Given the description of an element on the screen output the (x, y) to click on. 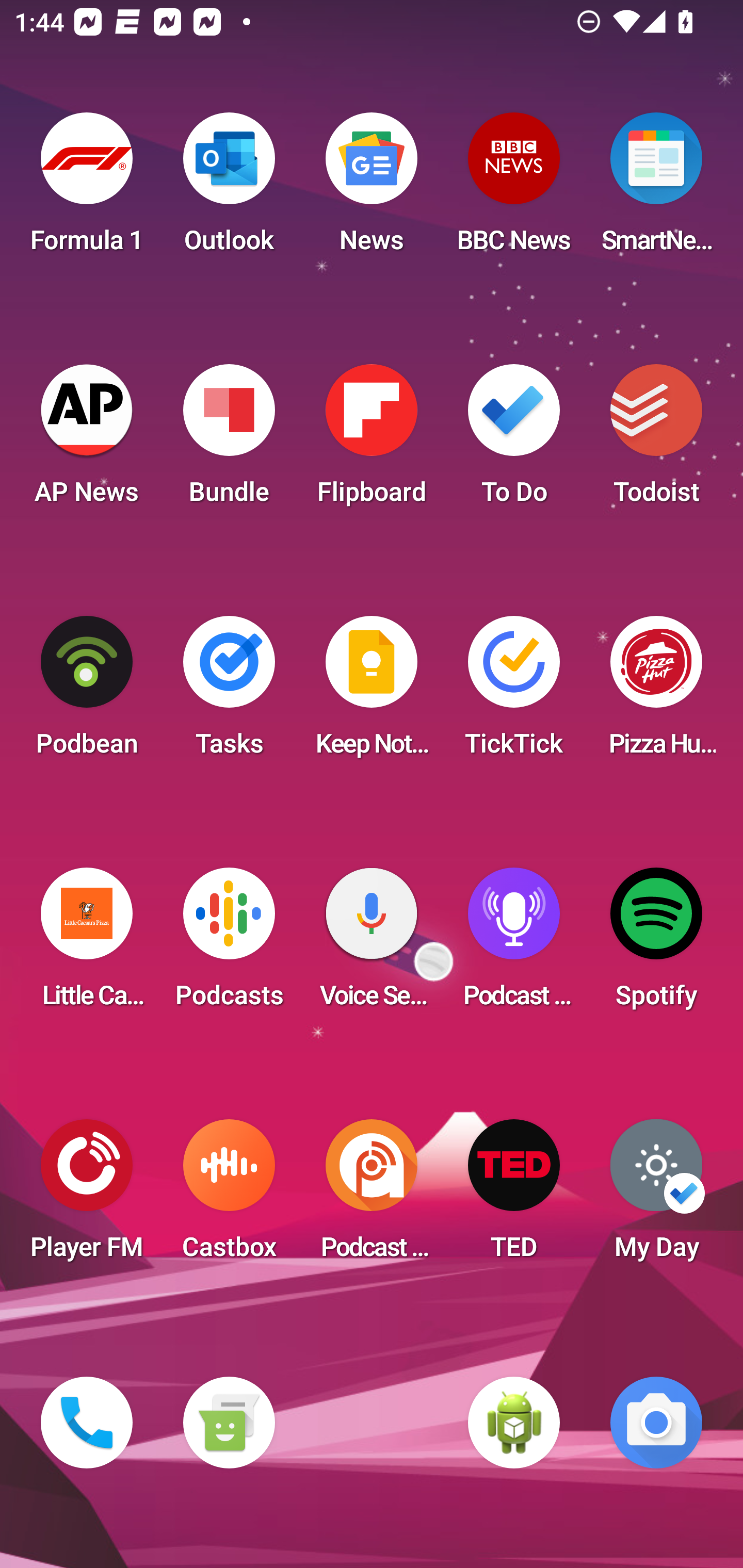
Formula 1 (86, 188)
Outlook (228, 188)
News (371, 188)
BBC News (513, 188)
SmartNews (656, 188)
AP News (86, 440)
Bundle (228, 440)
Flipboard (371, 440)
To Do (513, 440)
Todoist (656, 440)
Podbean (86, 692)
Tasks (228, 692)
Keep Notes (371, 692)
TickTick (513, 692)
Pizza Hut HK & Macau (656, 692)
Little Caesars Pizza (86, 943)
Podcasts (228, 943)
Voice Search (371, 943)
Podcast Player (513, 943)
Spotify (656, 943)
Player FM (86, 1195)
Castbox (228, 1195)
Podcast Addict (371, 1195)
TED (513, 1195)
My Day (656, 1195)
Phone (86, 1422)
Messaging (228, 1422)
WebView Browser Tester (513, 1422)
Camera (656, 1422)
